Given the description of an element on the screen output the (x, y) to click on. 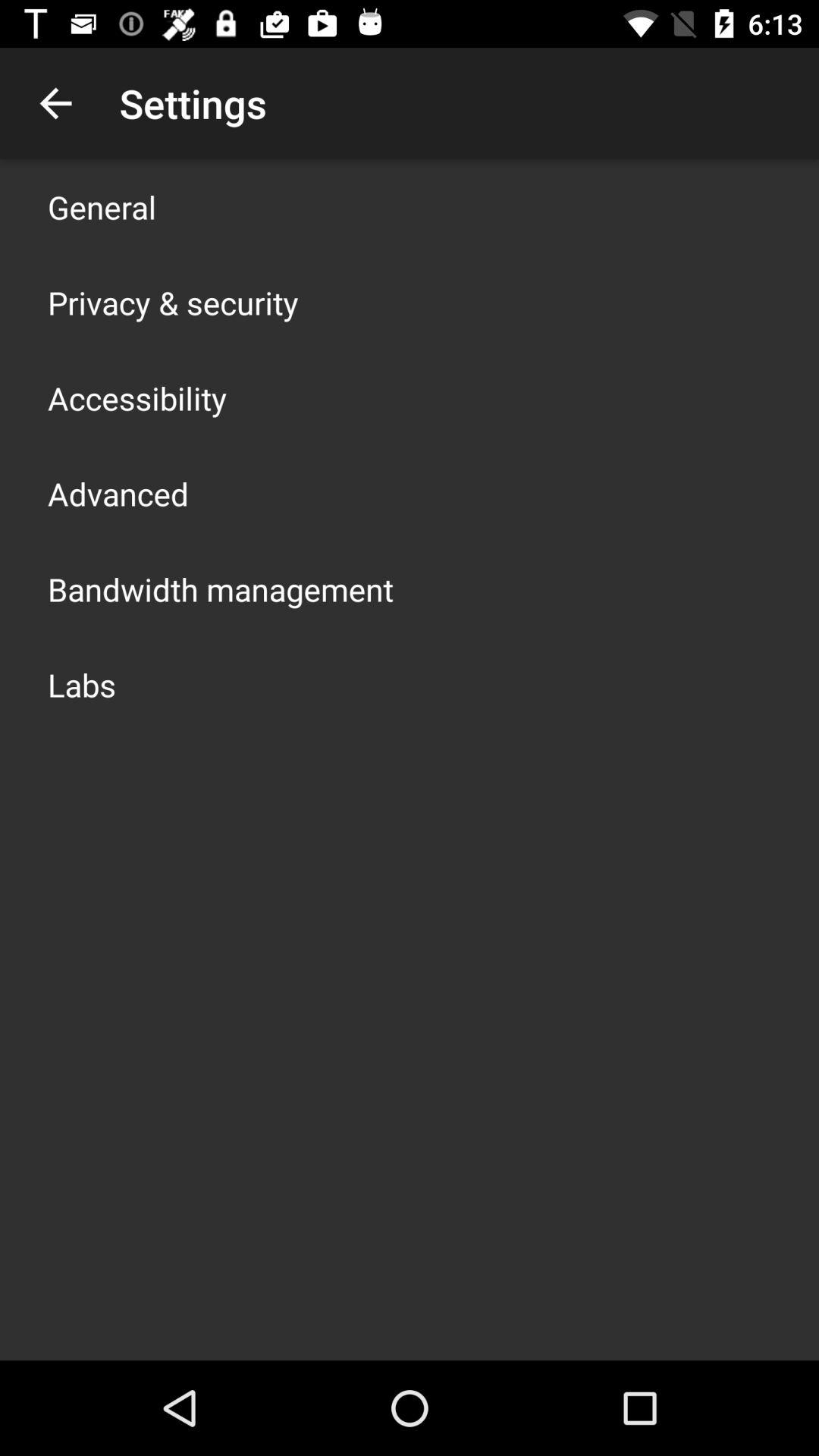
scroll to privacy & security (172, 302)
